Given the description of an element on the screen output the (x, y) to click on. 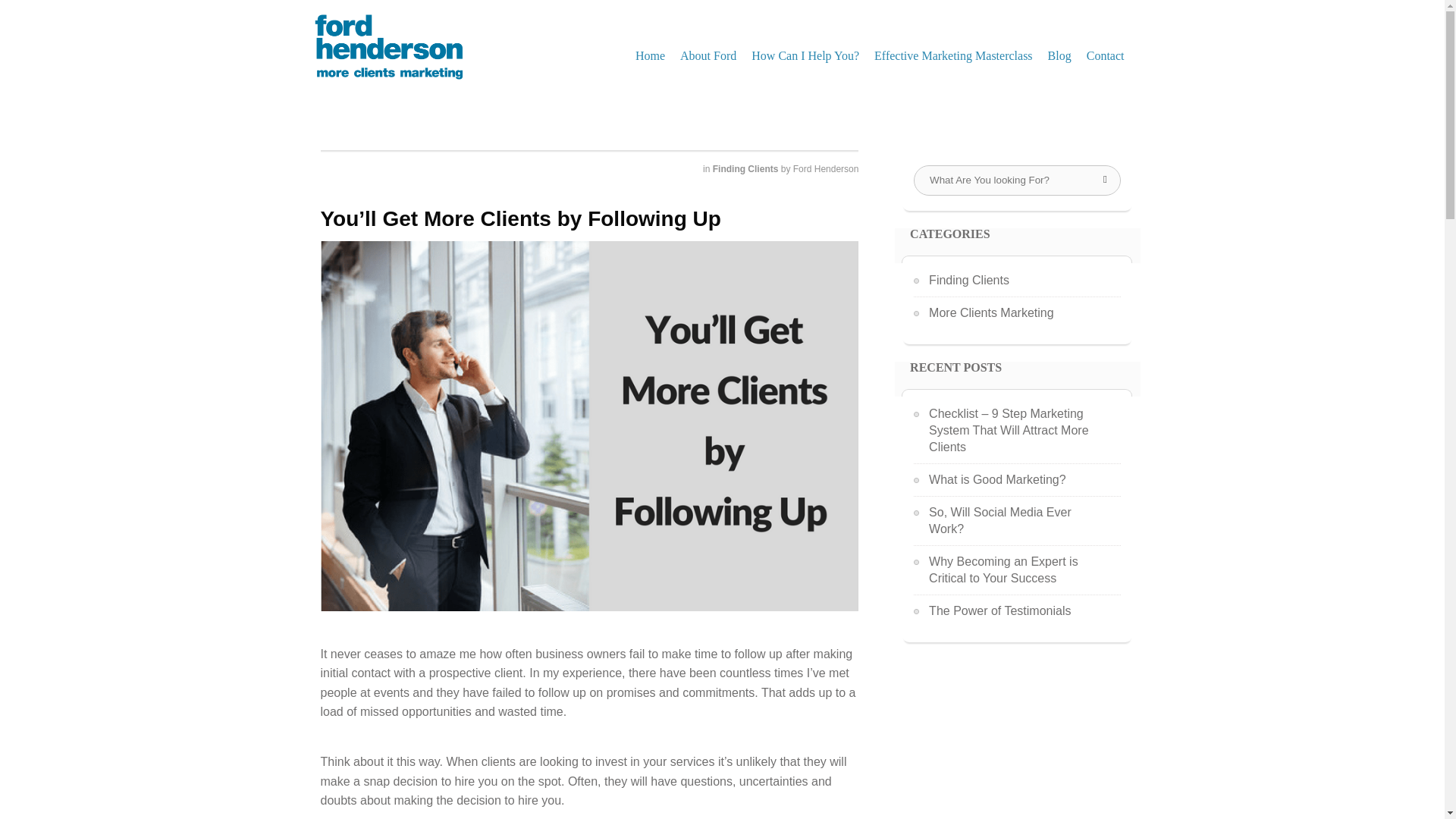
Contact (1105, 54)
Ford Henderson (826, 168)
Why Becoming an Expert is Critical to Your Success (1003, 569)
Finding Clients (746, 168)
The Power of Testimonials (999, 609)
Finding Clients (968, 278)
More Clients Marketing (991, 312)
So, Will Social Media Ever Work? (999, 519)
Effective Marketing Masterclass (953, 54)
About Ford (708, 54)
What is Good Marketing? (996, 479)
Blog (1059, 54)
Home (649, 54)
How Can I Help You? (805, 54)
